Given the description of an element on the screen output the (x, y) to click on. 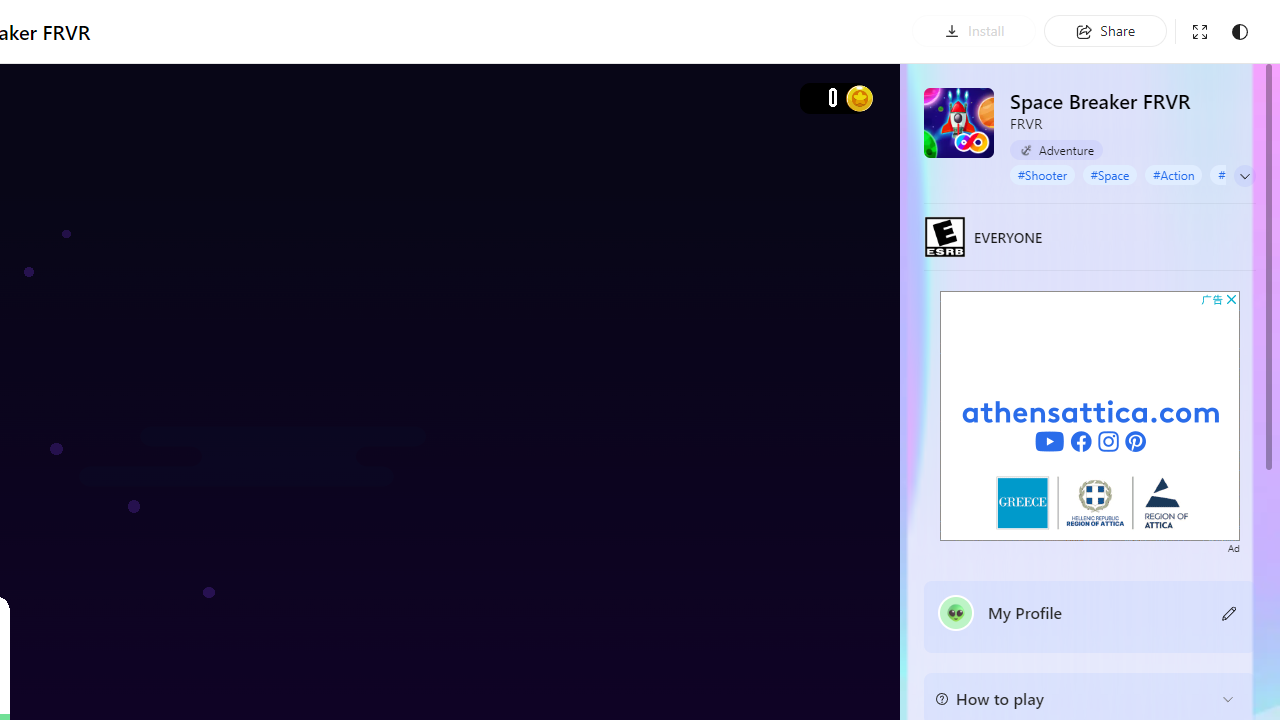
Exit full screen (1199, 31)
#Action (1174, 174)
Search or enter web address (343, 191)
Space Breaker FRVR (959, 122)
""'s avatar (955, 612)
Class: button edit-icon (1229, 612)
Close split screen (844, 102)
#Sci Fi (1234, 174)
Class: control (1245, 176)
Frequently visited (418, 265)
#Shooter (1042, 174)
